Given the description of an element on the screen output the (x, y) to click on. 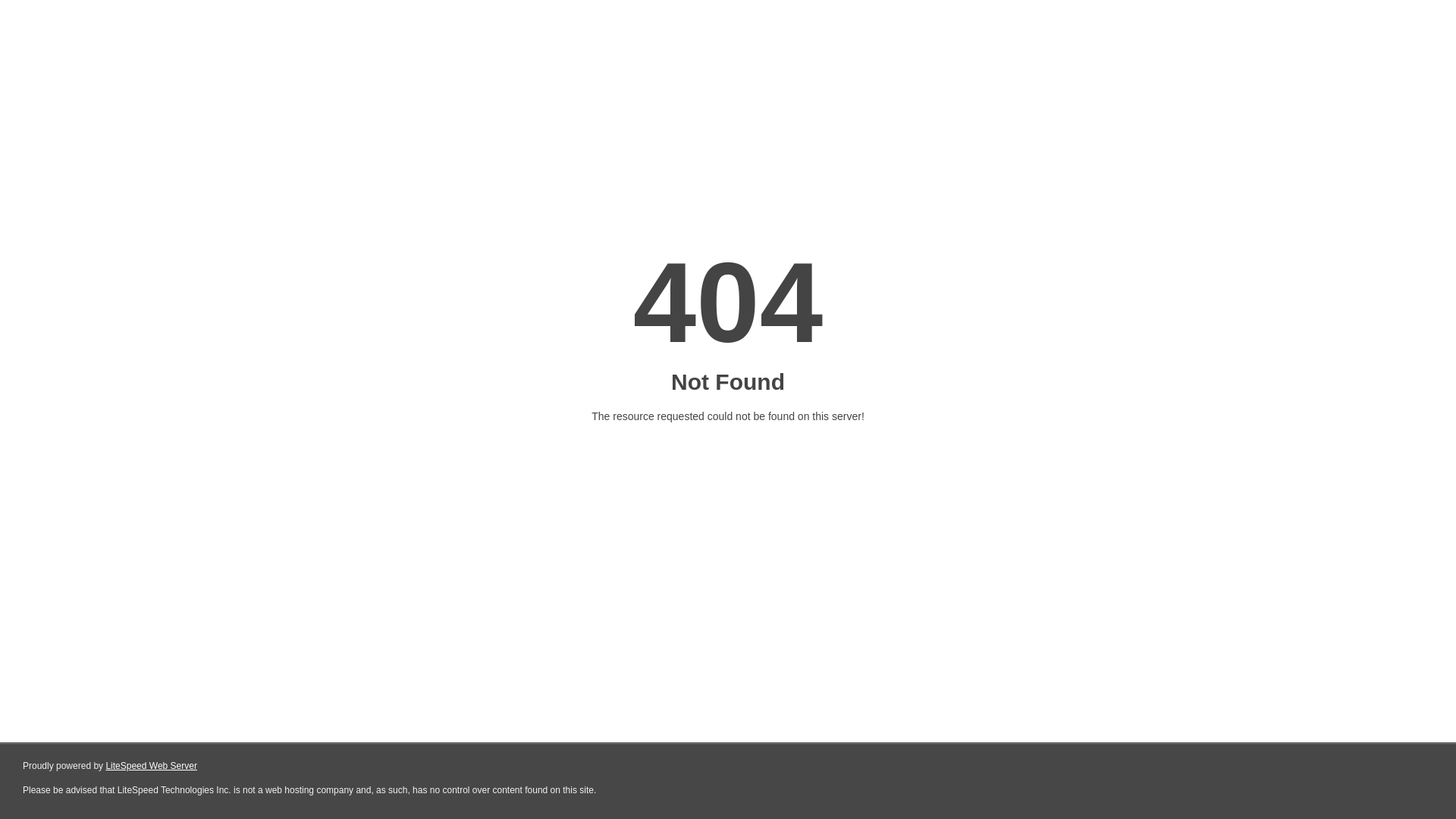
LiteSpeed Web Server Element type: text (151, 765)
